Given the description of an element on the screen output the (x, y) to click on. 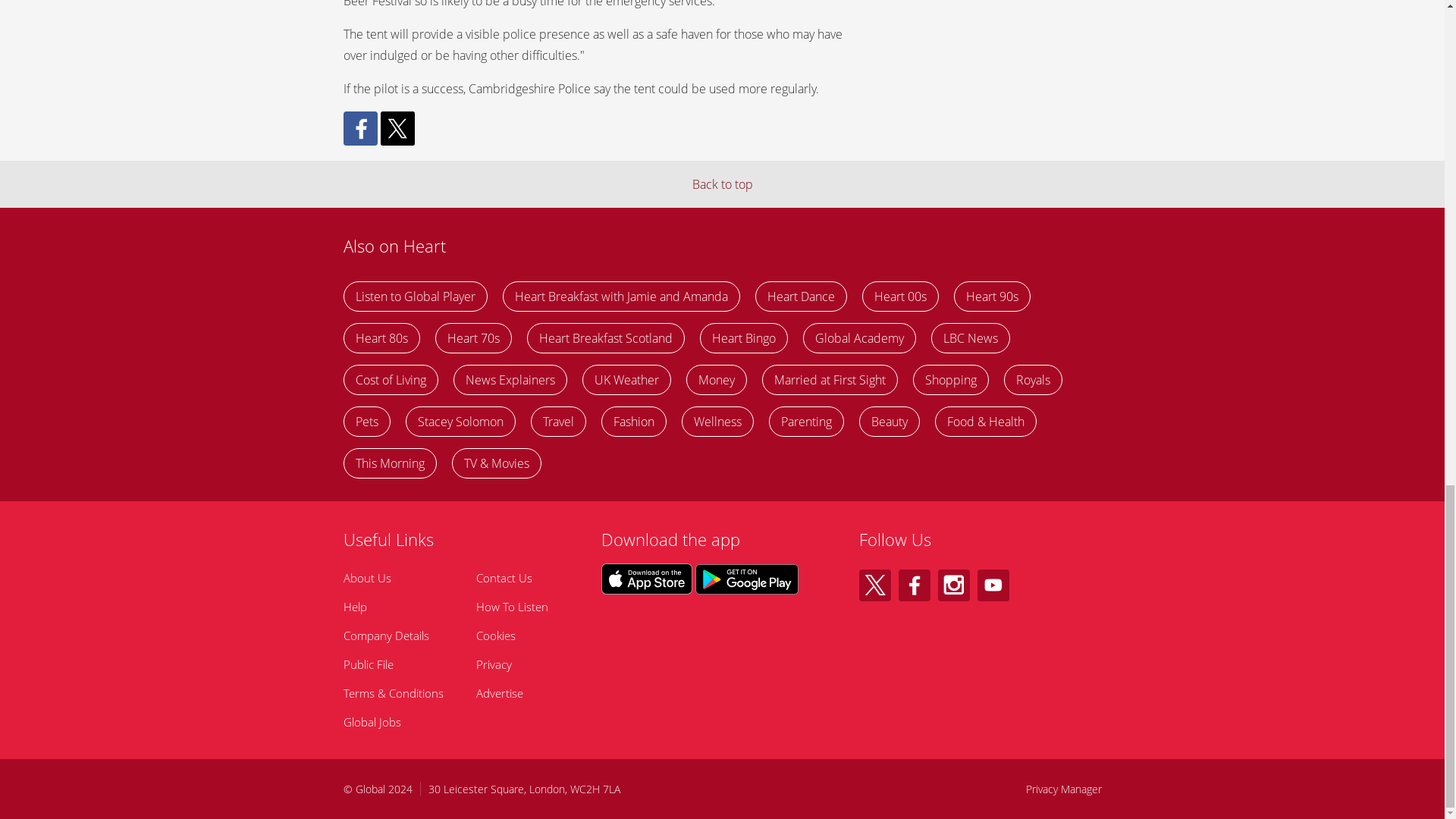
Follow Heart on Facebook (914, 585)
Follow Heart on X (874, 585)
Follow Heart on Youtube (992, 585)
Follow Heart on Instagram (953, 585)
Back to top (721, 184)
